Given the description of an element on the screen output the (x, y) to click on. 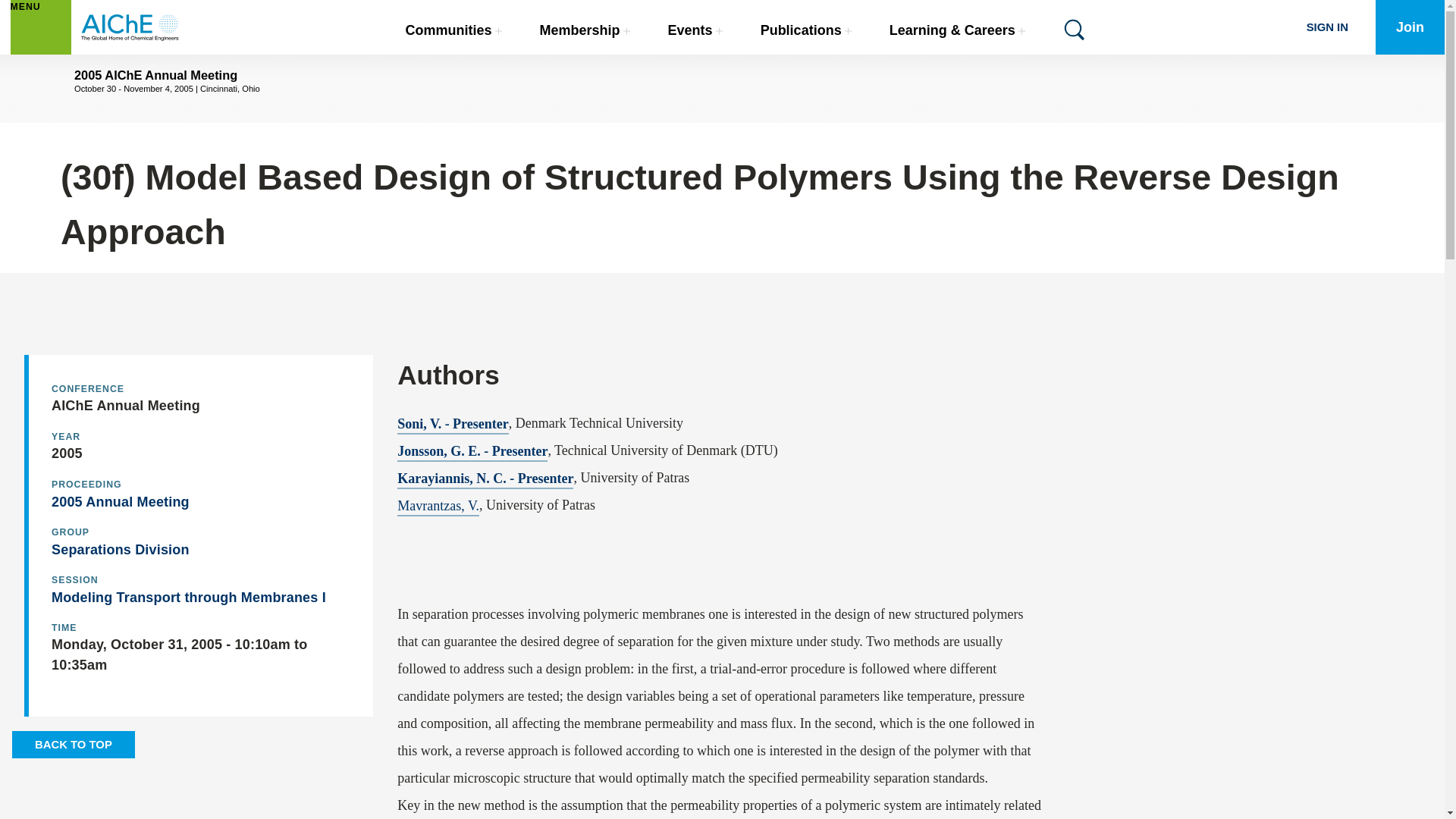
Go to AIChE Home (130, 27)
